Given the description of an element on the screen output the (x, y) to click on. 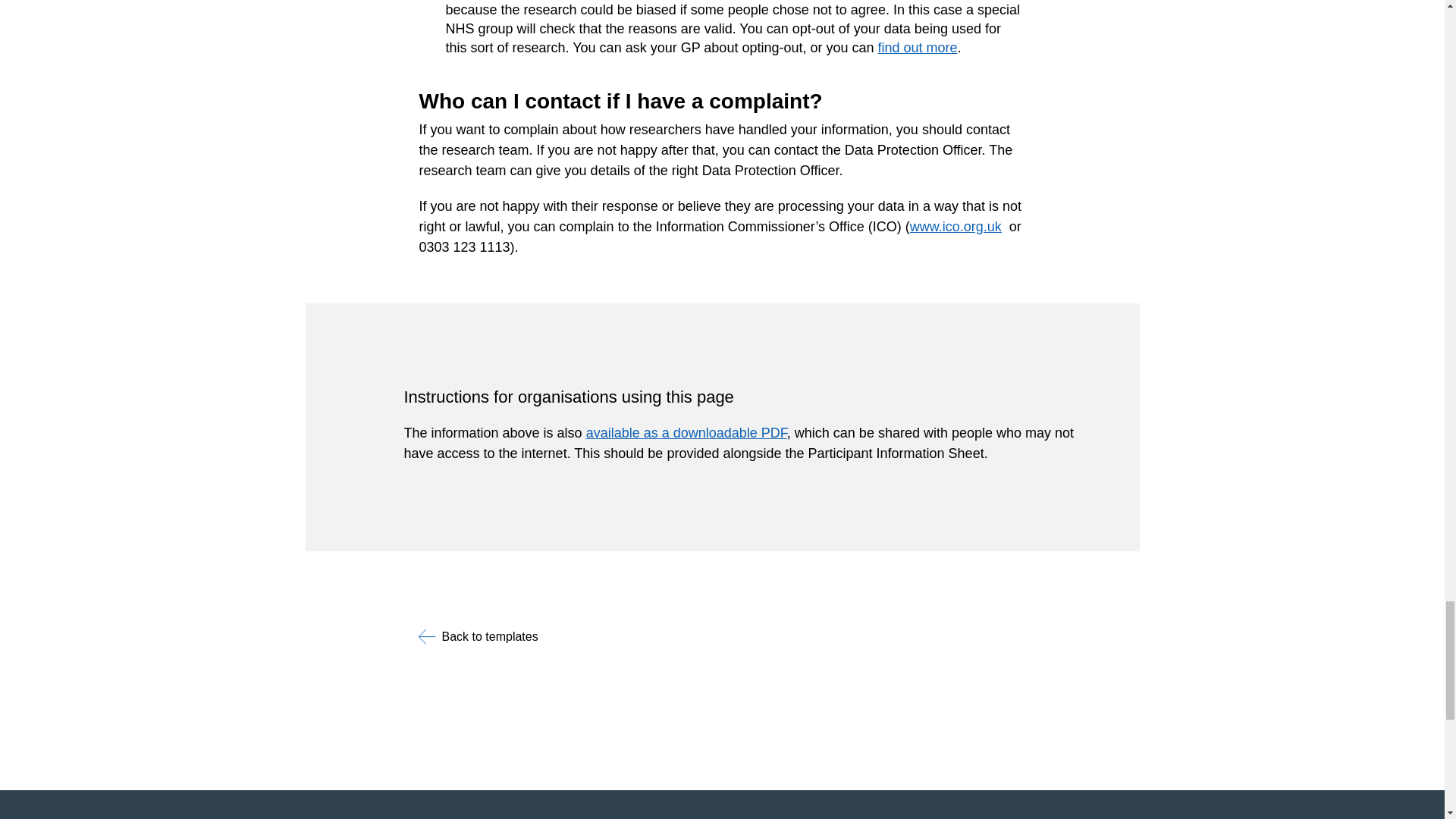
available as a downloadable PDF (686, 432)
Back to templates (478, 636)
www.ico.org.uk (955, 226)
find out more (917, 47)
